Given the description of an element on the screen output the (x, y) to click on. 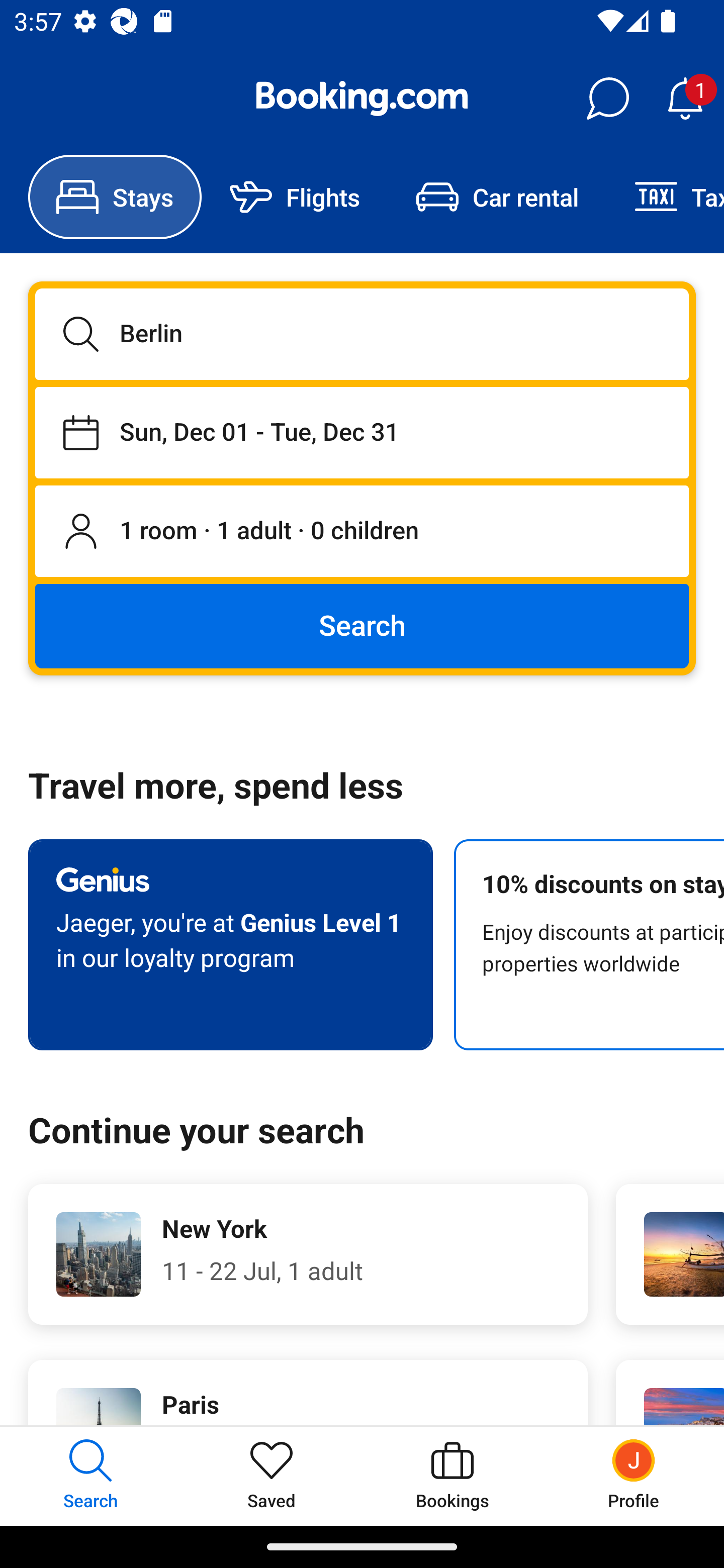
Messages (607, 98)
Notifications (685, 98)
Stays (114, 197)
Flights (294, 197)
Car rental (497, 197)
Taxi (665, 197)
Berlin (361, 333)
Staying from Sun, Dec 01 until Tue, Dec 31 (361, 432)
1 room, 1 adult, 0 children (361, 531)
Search (361, 625)
New York 11 - 22 Jul, 1 adult (307, 1253)
Saved (271, 1475)
Bookings (452, 1475)
Profile (633, 1475)
